Given the description of an element on the screen output the (x, y) to click on. 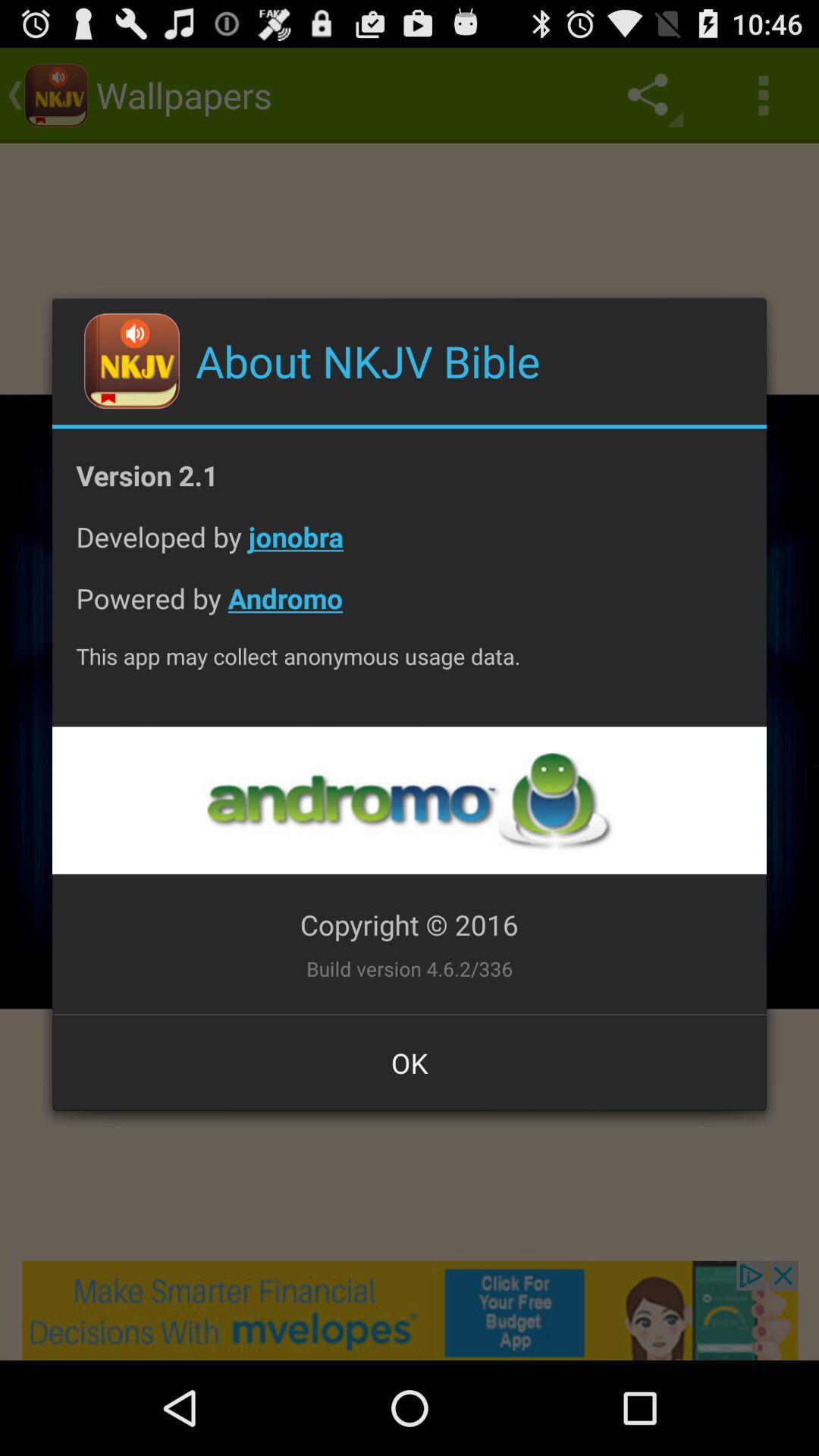
select icon above powered by andromo icon (409, 548)
